Given the description of an element on the screen output the (x, y) to click on. 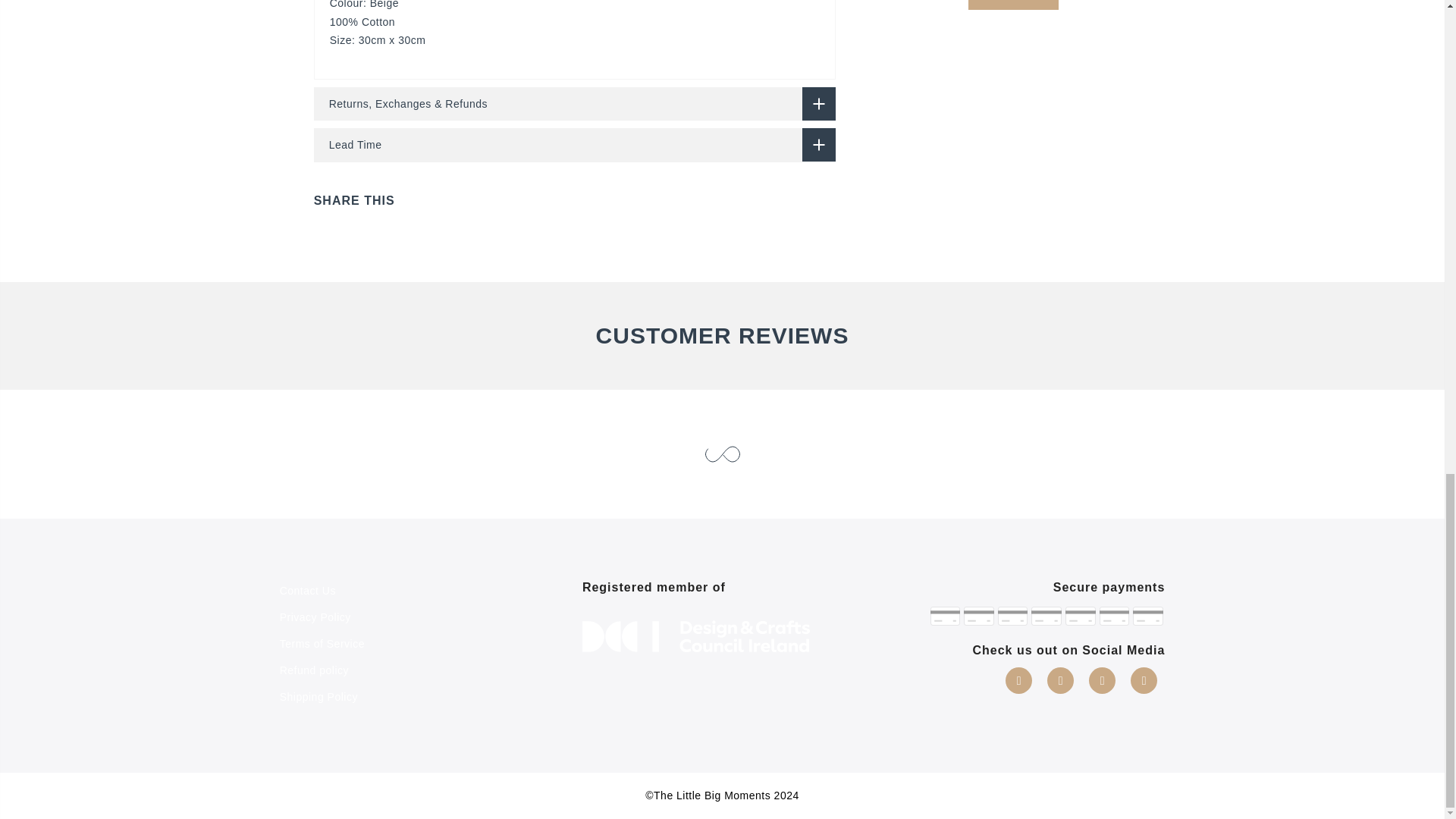
Lead Time (574, 144)
ADD TO CART (1013, 4)
Privacy Policy (314, 616)
Refund policy (314, 670)
Terms of Service (322, 644)
Contact Us (307, 590)
Shipping Policy (318, 696)
